Given the description of an element on the screen output the (x, y) to click on. 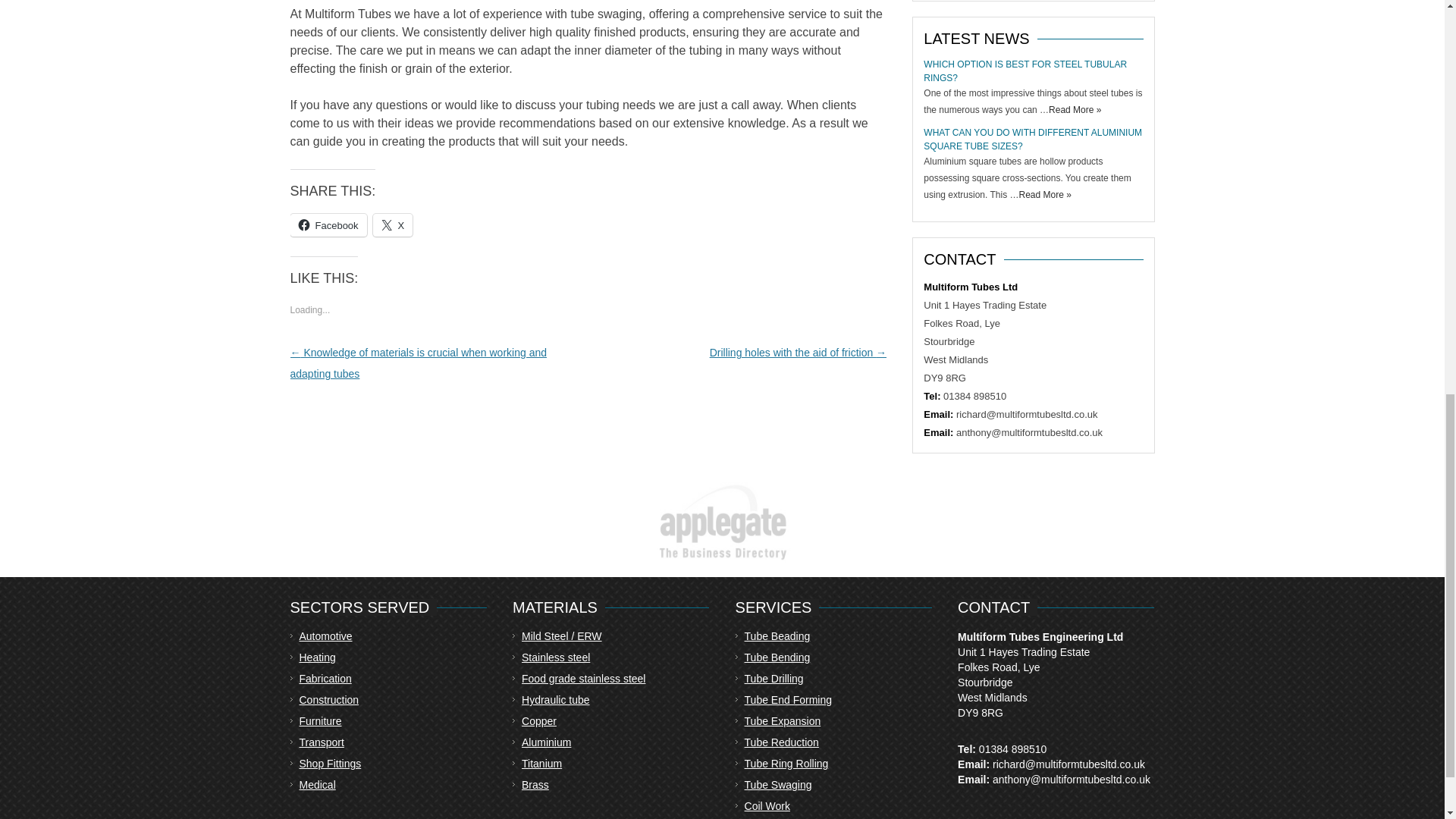
Facebook (327, 224)
Click to share on X (392, 224)
X (392, 224)
Permalink to Which option is best for steel tubular rings? (1024, 70)
Click to share on Facebook (327, 224)
